Given the description of an element on the screen output the (x, y) to click on. 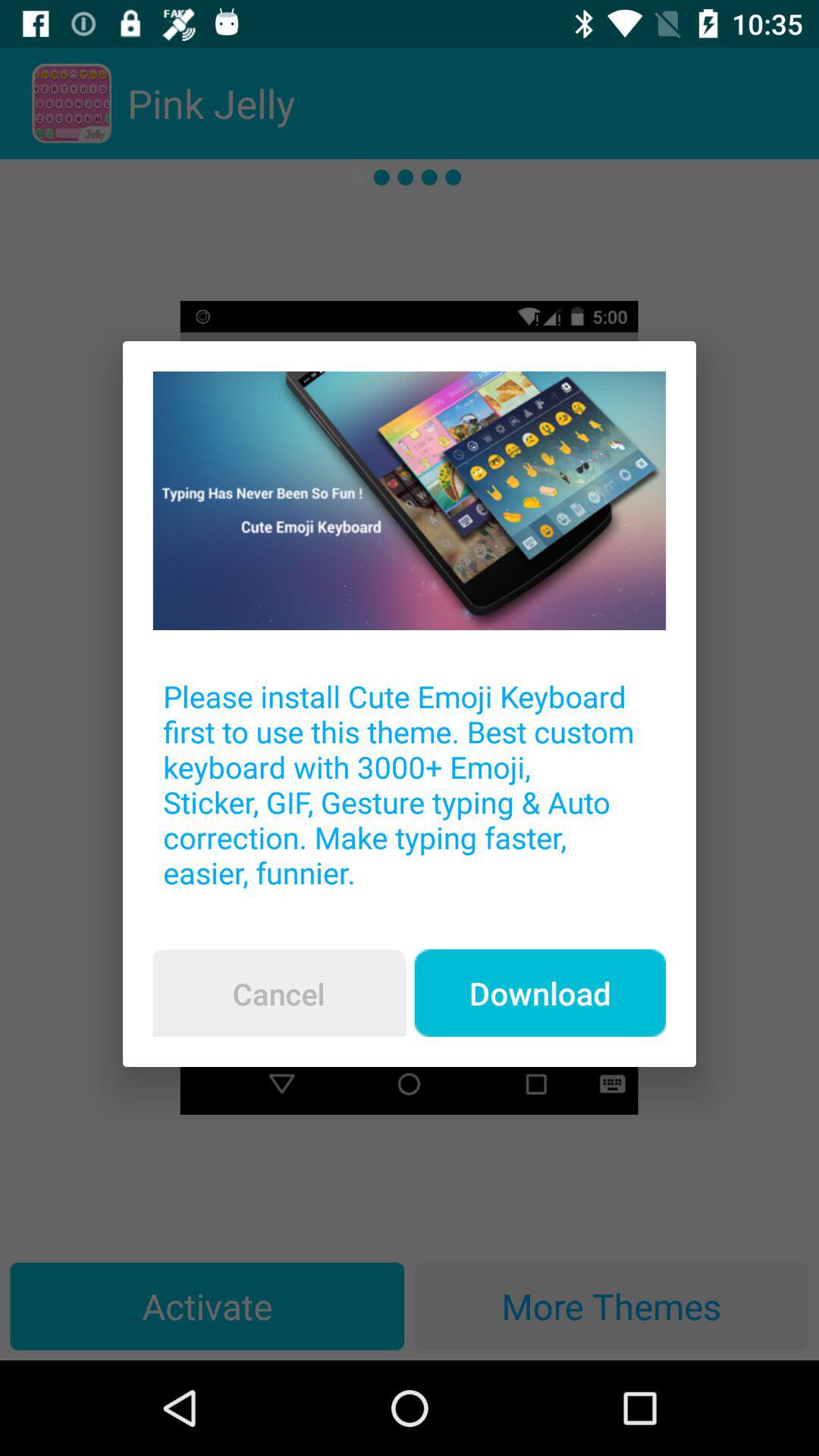
launch item below the please install cute (278, 993)
